Given the description of an element on the screen output the (x, y) to click on. 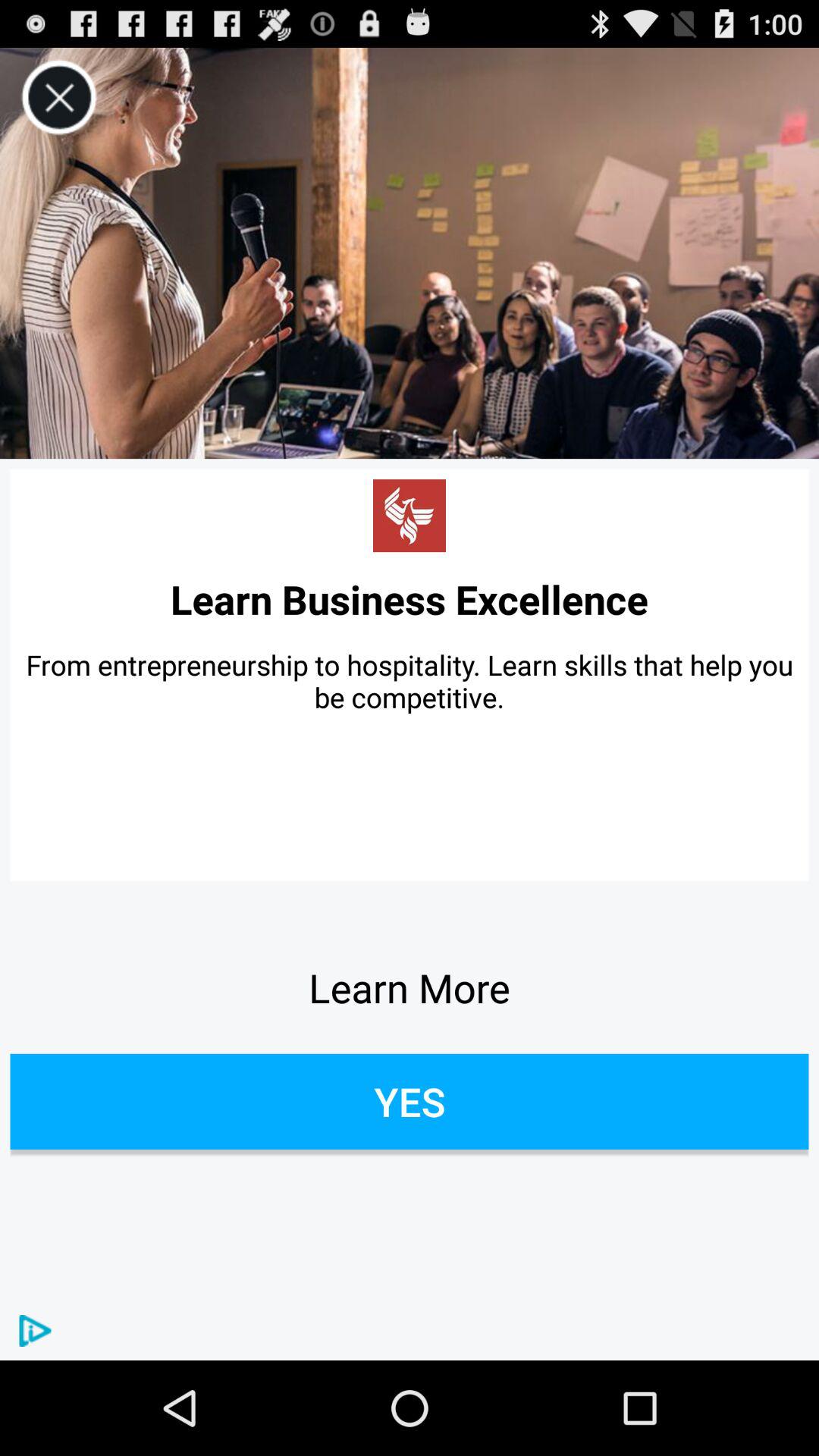
close option (59, 97)
